Given the description of an element on the screen output the (x, y) to click on. 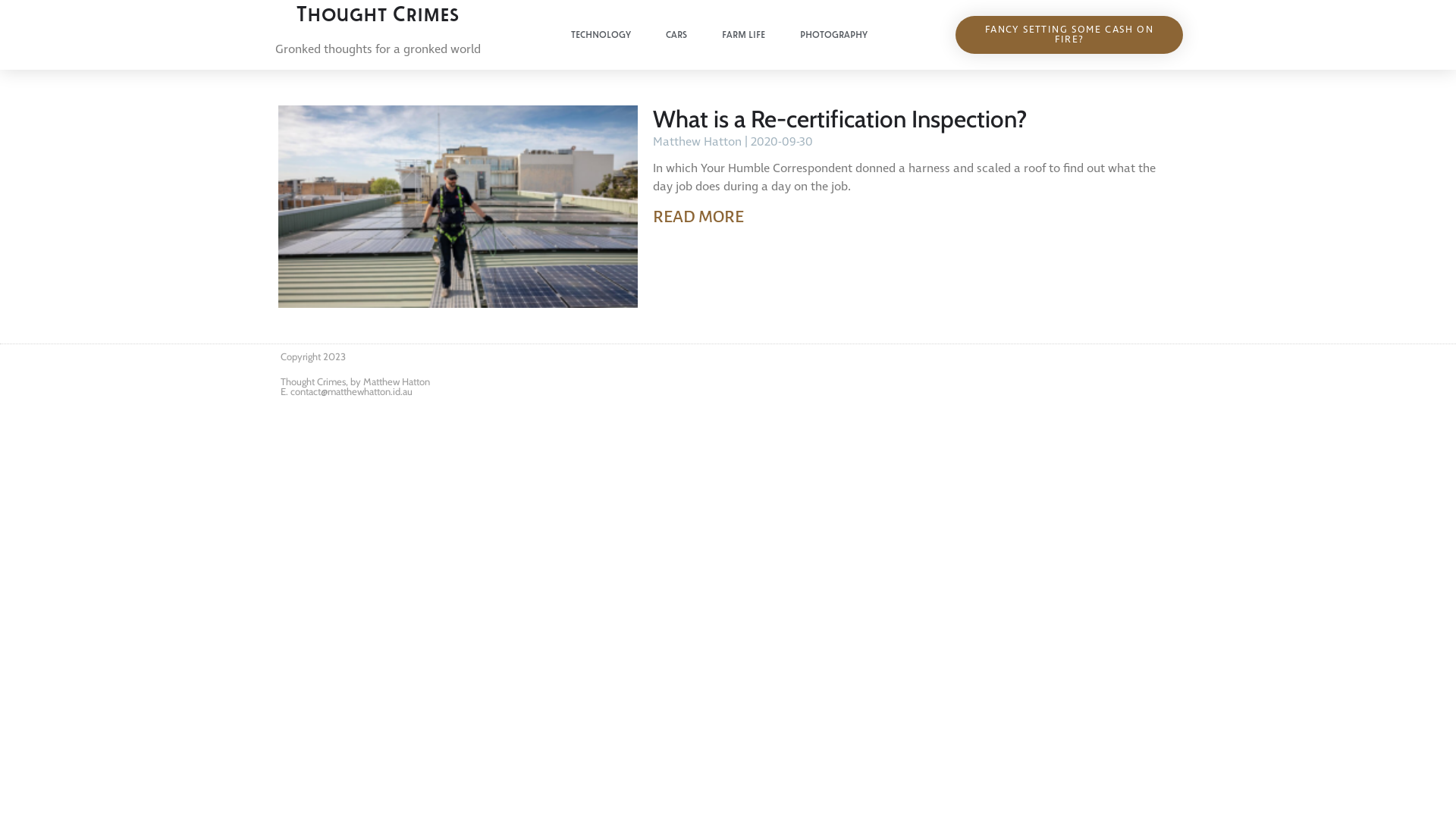
PHOTOGRAPHY Element type: text (832, 34)
FANCY SETTING SOME CASH ON FIRE? Element type: text (1069, 34)
READ MORE Element type: text (697, 216)
FARM LIFE Element type: text (743, 34)
CARS Element type: text (676, 34)
What is a Re-certification Inspection? Element type: text (839, 118)
TECHNOLOGY Element type: text (600, 34)
